Given the description of an element on the screen output the (x, y) to click on. 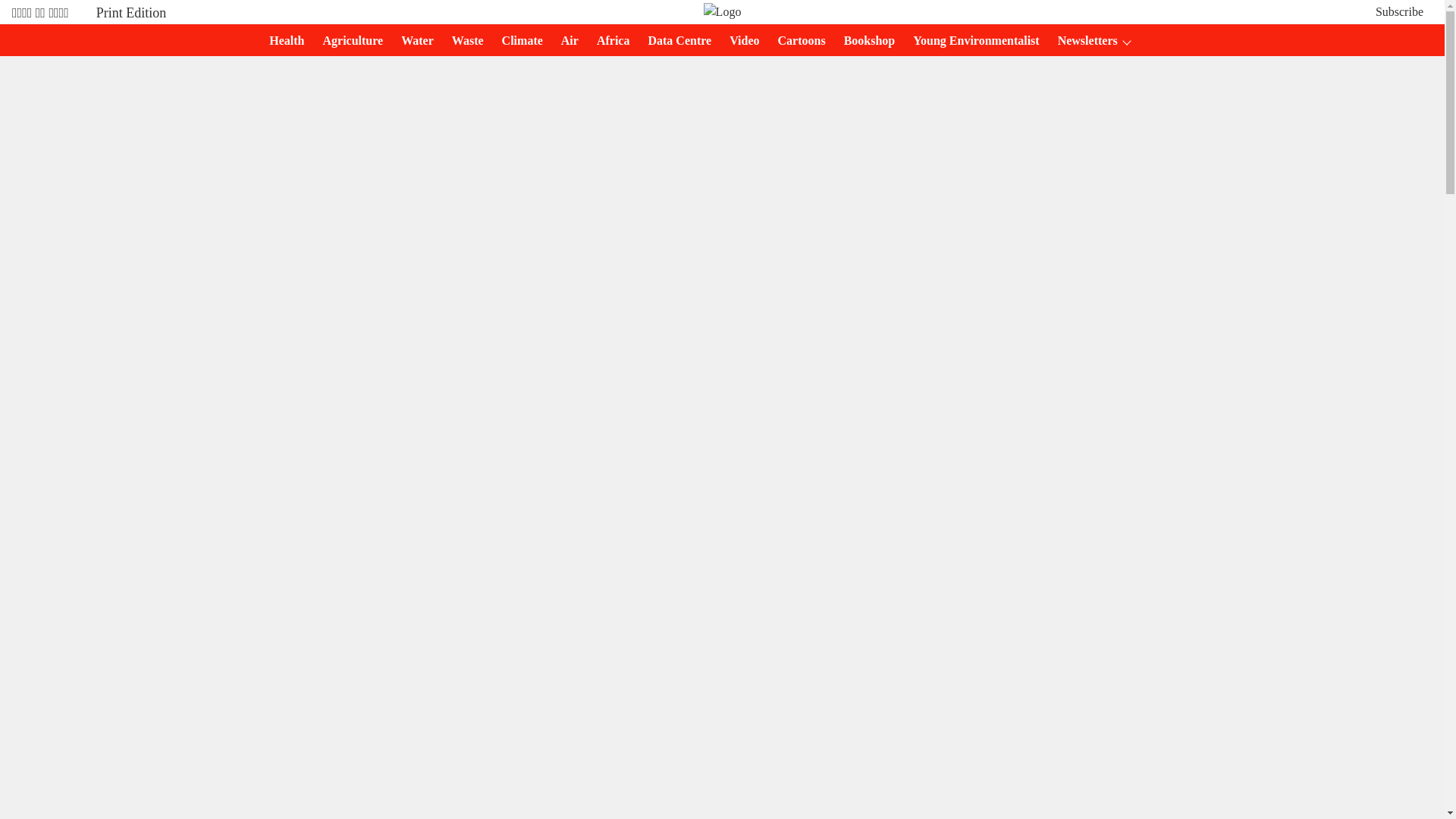
Health (282, 40)
Cartoons (796, 40)
Young Environmentalist (971, 40)
Agriculture (347, 40)
Bookshop (864, 40)
Air (564, 40)
Video (739, 40)
Africa (609, 40)
Waste (462, 40)
Water (412, 40)
Climate (518, 40)
Print Edition (131, 12)
Data Centre (675, 40)
